Given the description of an element on the screen output the (x, y) to click on. 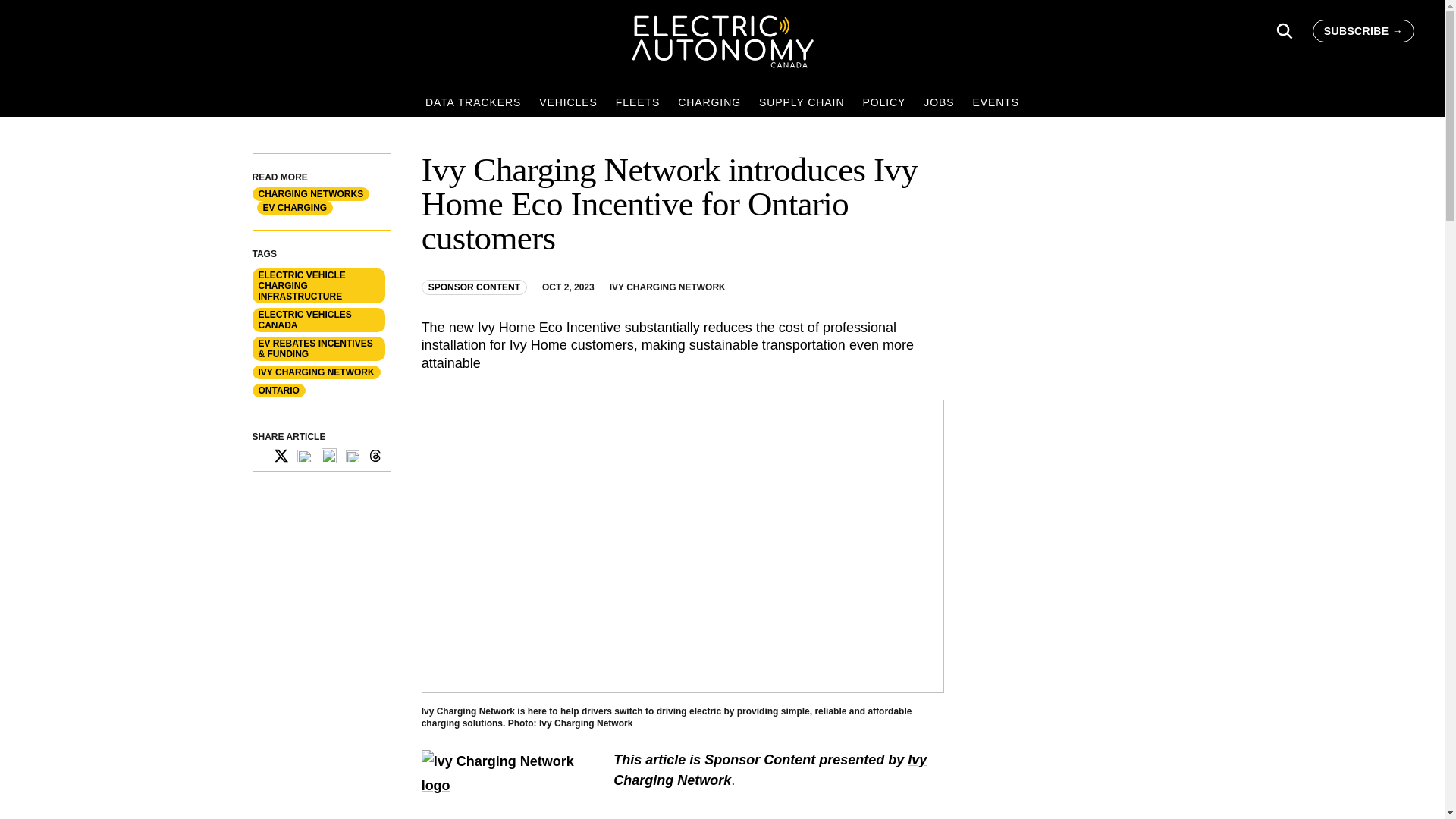
DATA TRACKERS (472, 102)
FLEETS (637, 102)
VEHICLES (568, 102)
